Given the description of an element on the screen output the (x, y) to click on. 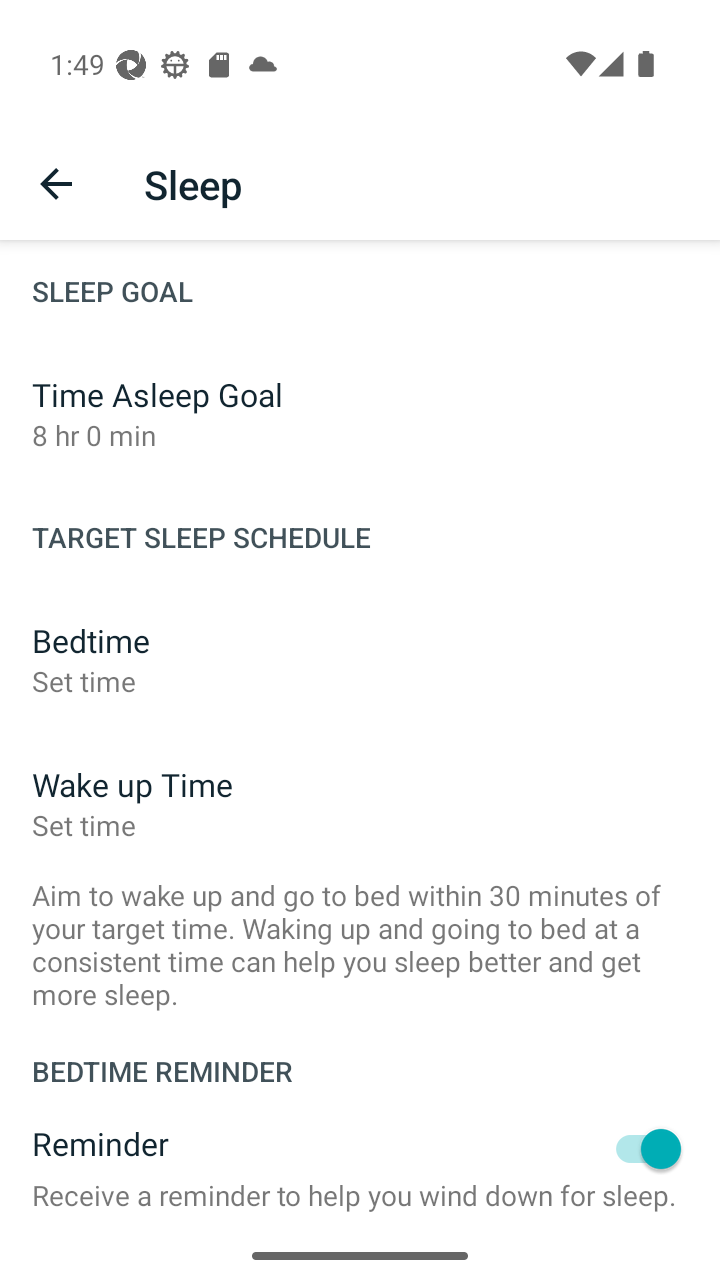
Navigate up (56, 184)
Time Asleep Goal 8 hr 0 min (360, 413)
Bedtime Set time (360, 659)
Wake up Time Set time (360, 803)
